Given the description of an element on the screen output the (x, y) to click on. 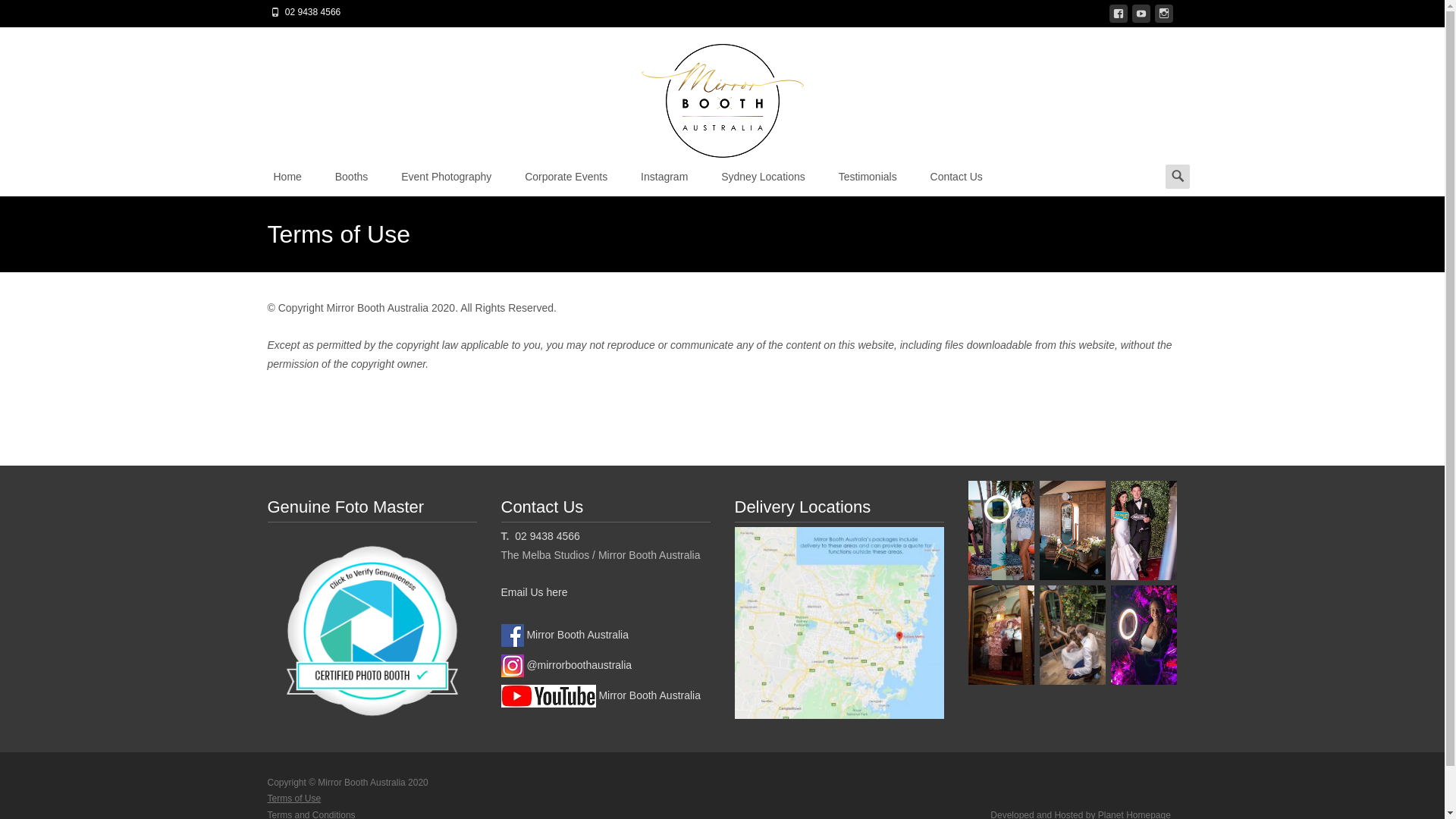
Mirror Booth Australia Element type: hover (721, 93)
02 9438 4566 Element type: text (545, 536)
Corporate Events Element type: text (565, 176)
@mirrorboothaustralia Element type: text (565, 664)
Instagram Element type: text (663, 176)
Sydney Locations Element type: text (763, 176)
facebook Element type: hover (1117, 16)
Terms of Use Element type: text (293, 798)
Booths Element type: text (351, 176)
Contact Us Element type: text (956, 176)
Mirror Booth Australia Element type: text (600, 695)
Mirror Booth Australia Element type: text (564, 634)
Skip to content Element type: text (257, 158)
Search Element type: text (18, 14)
Email Us here Element type: text (533, 592)
youtube Element type: hover (1140, 16)
instagram Element type: hover (1163, 16)
Testimonials Element type: text (867, 176)
Click to verify genuineness Element type: hover (371, 630)
Home Element type: text (287, 176)
Search for: Element type: hover (1176, 176)
Event Photography Element type: text (446, 176)
